Given the description of an element on the screen output the (x, y) to click on. 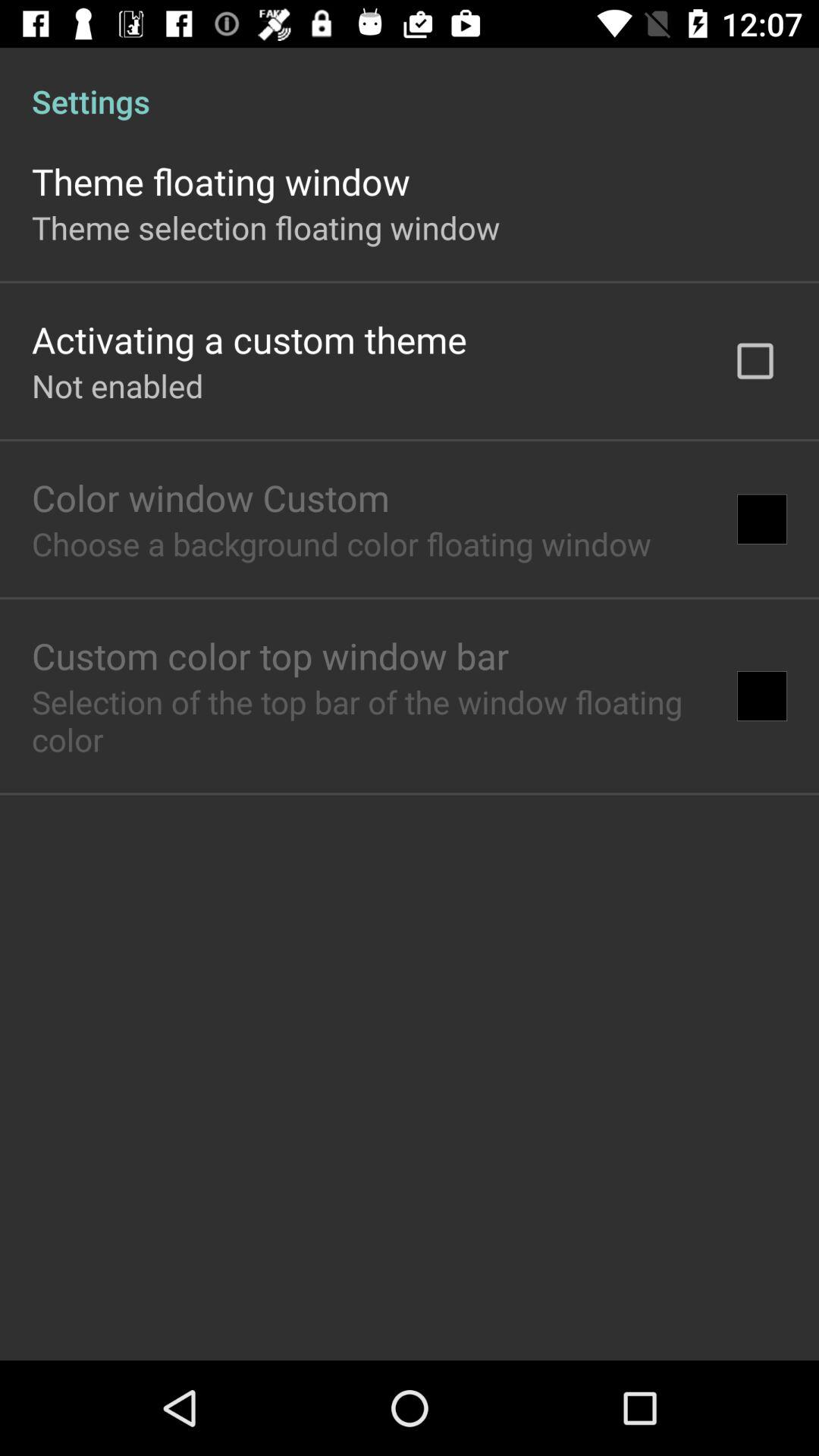
select icon at the top right corner (755, 361)
